Given the description of an element on the screen output the (x, y) to click on. 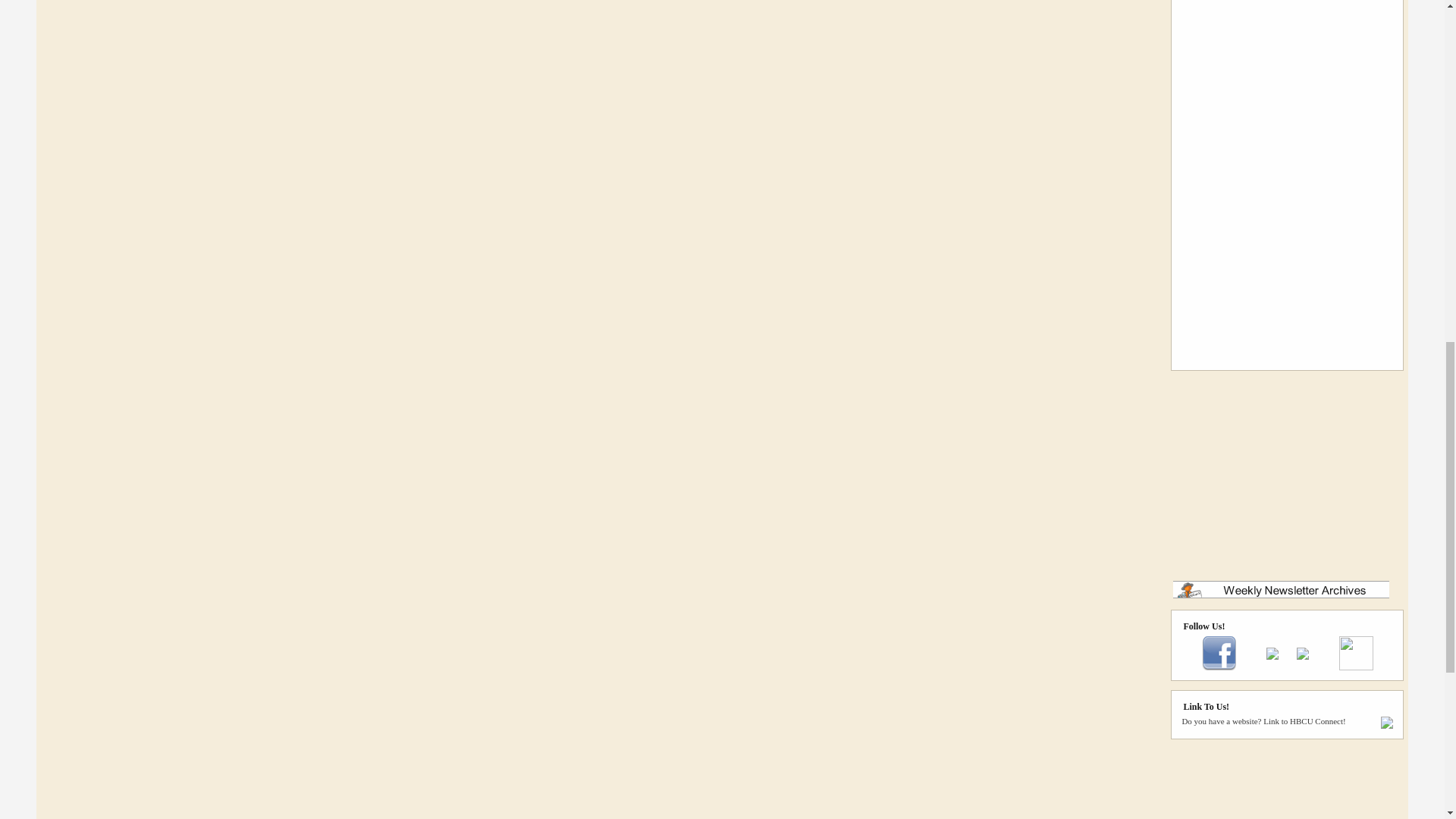
Follow us on Twitter! (1272, 655)
Follow us on YouTube! (1302, 655)
Follow us via RSS! (1356, 666)
Follow us on Facebook! (1219, 666)
